Given the description of an element on the screen output the (x, y) to click on. 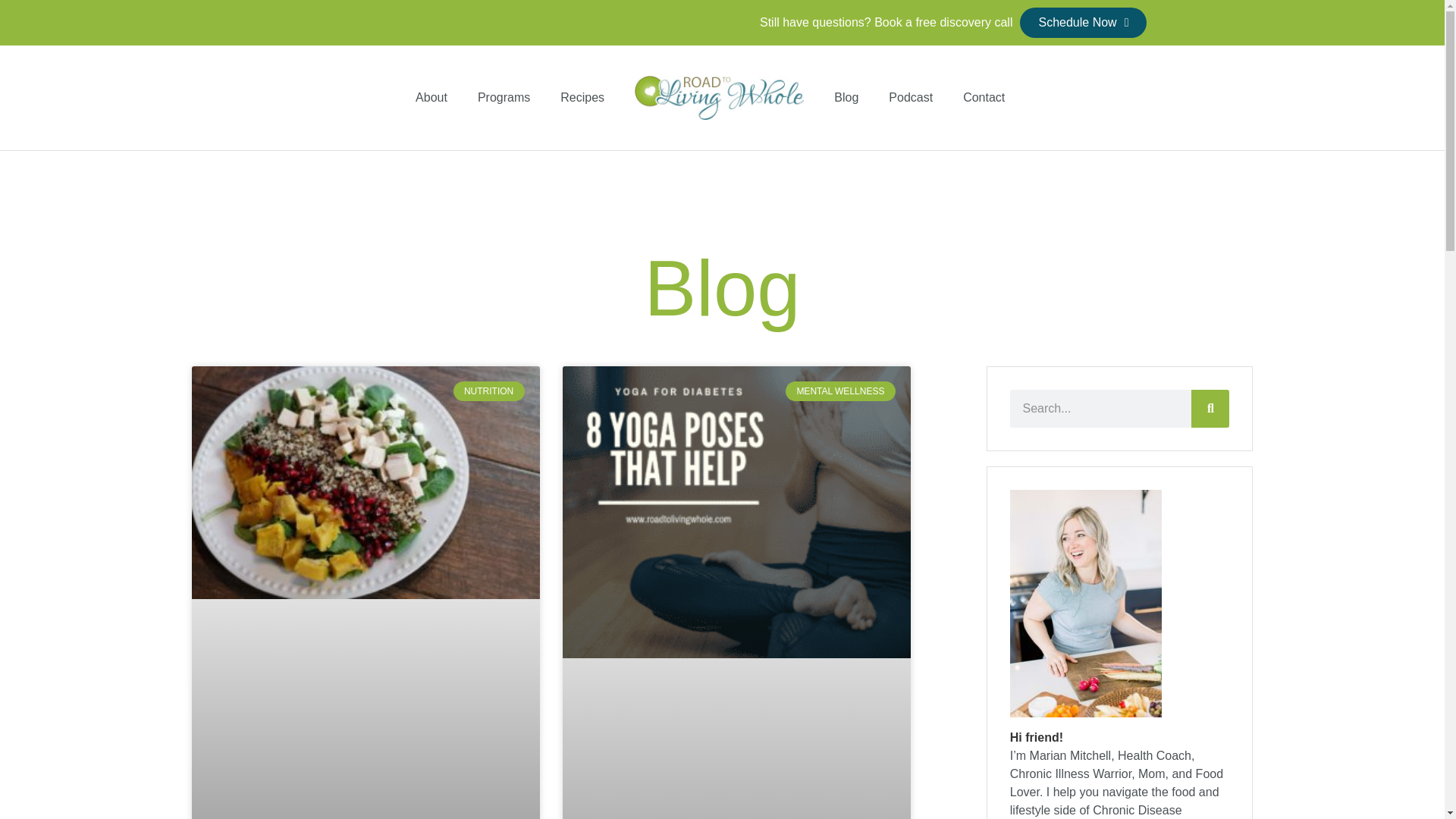
Podcast (910, 97)
Programs (503, 97)
About (431, 97)
Contact (983, 97)
Search (1209, 408)
Blog (845, 97)
Recipes (582, 97)
Schedule Now (1083, 22)
